Given the description of an element on the screen output the (x, y) to click on. 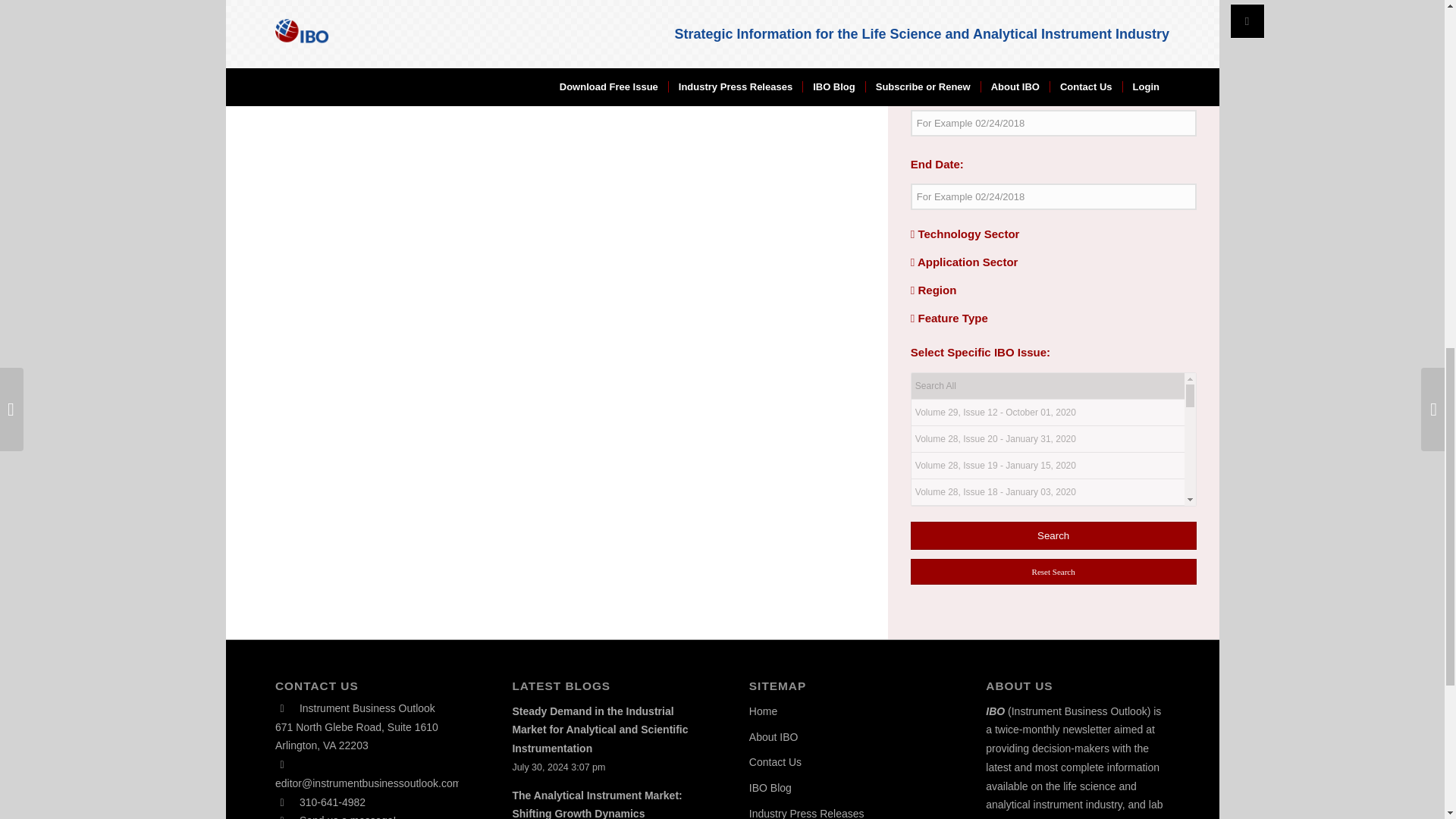
Feature Type (949, 318)
Region (933, 289)
The Analytical Instrument Market: Shifting Growth Dynamics (596, 804)
